Given the description of an element on the screen output the (x, y) to click on. 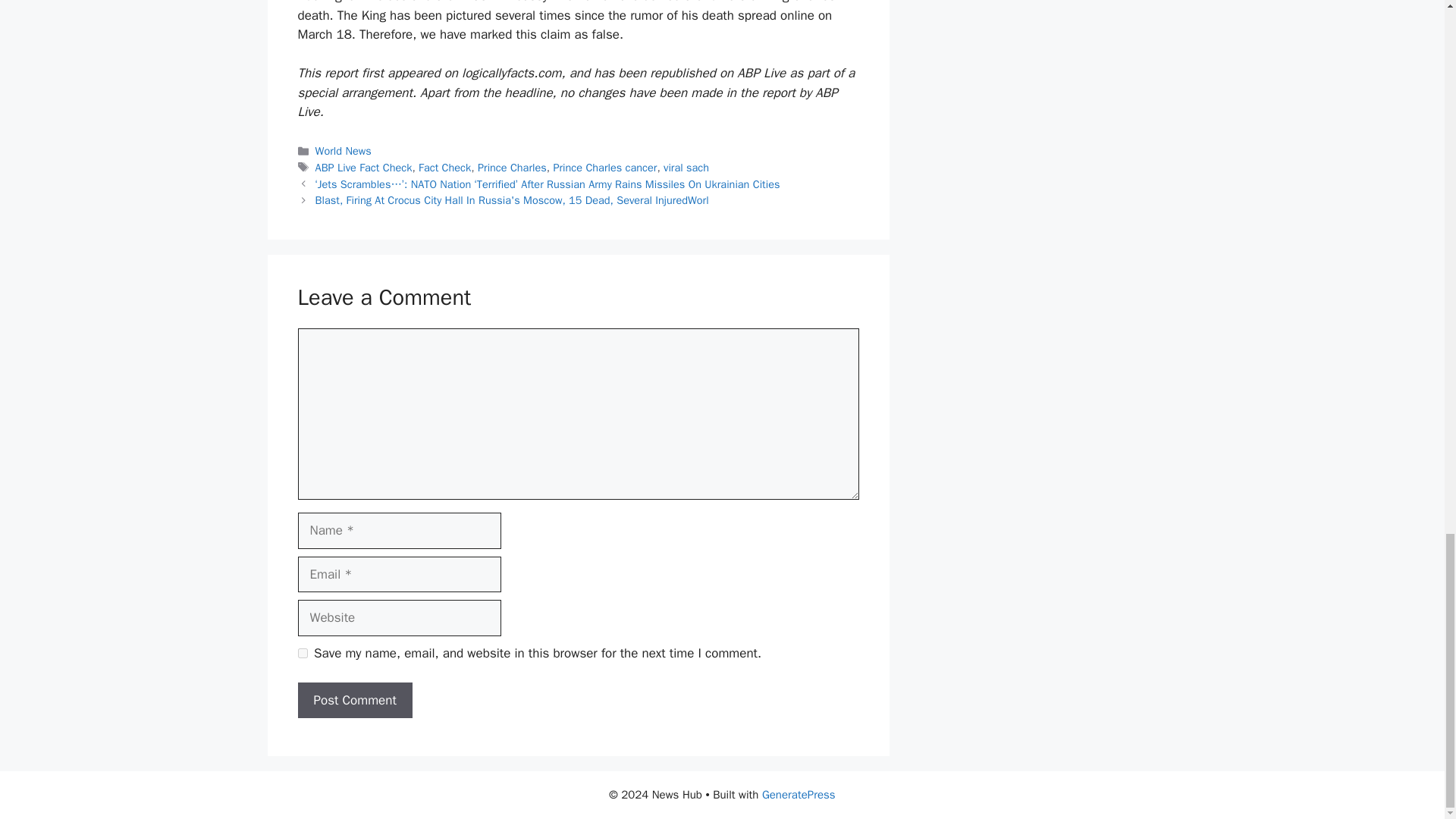
ABP Live Fact Check (363, 167)
GeneratePress (798, 794)
Prince Charles cancer (604, 167)
Prince Charles (512, 167)
Post Comment (354, 700)
Fact Check (444, 167)
Post Comment (354, 700)
World News (343, 151)
yes (302, 653)
viral sach (686, 167)
